Given the description of an element on the screen output the (x, y) to click on. 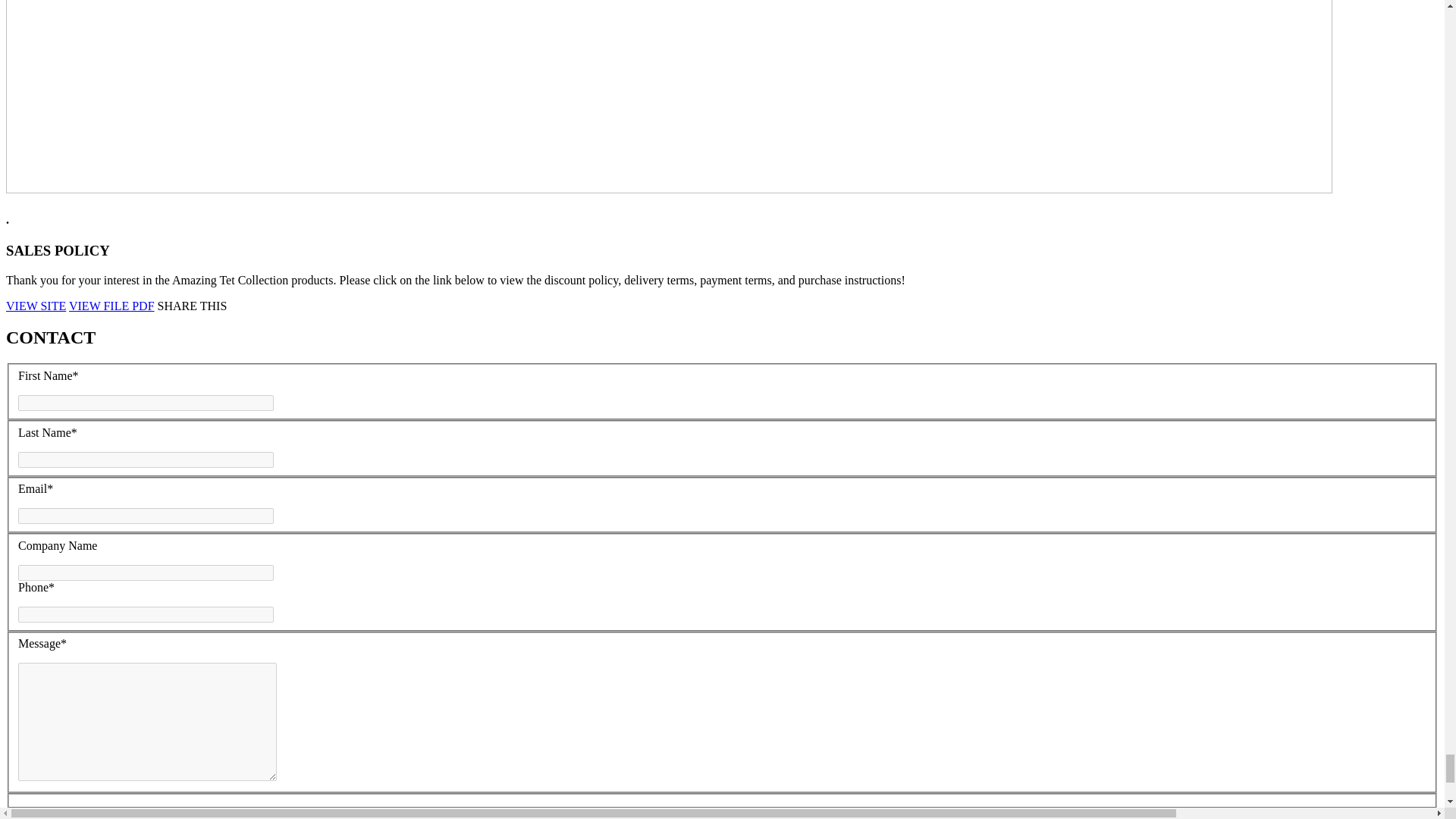
VIEW SITE (35, 305)
SHARE THIS (192, 305)
VIEW FILE PDF (111, 305)
VIEW SITE (35, 305)
